Given the description of an element on the screen output the (x, y) to click on. 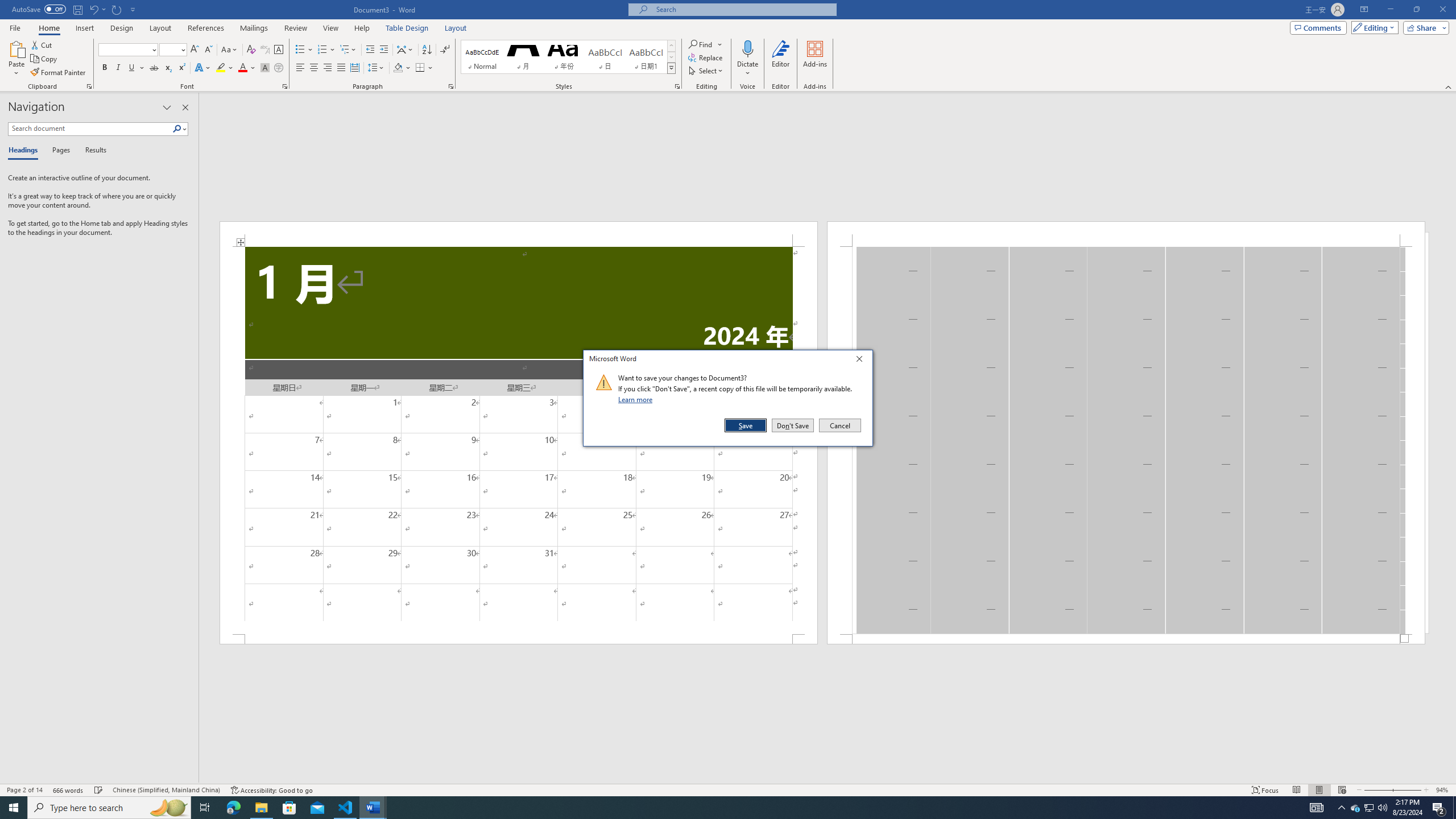
Styles (1368, 807)
Notification Chevron (670, 67)
